Given the description of an element on the screen output the (x, y) to click on. 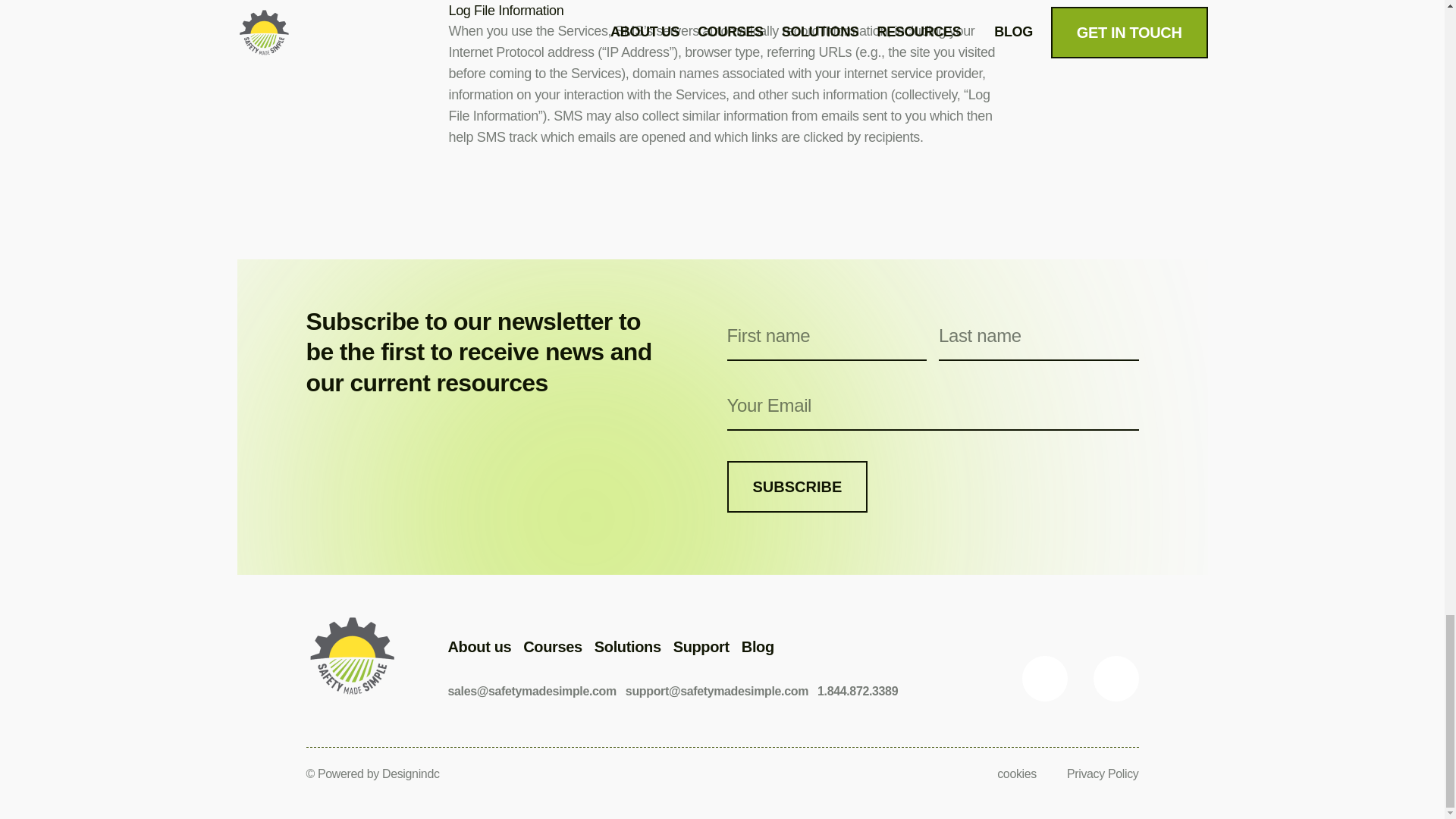
Subscribe (796, 486)
Courses (552, 646)
Support (700, 646)
About us (478, 646)
Solutions (627, 646)
Blog (757, 646)
Subscribe (796, 486)
1.844.872.3389 (857, 690)
